Given the description of an element on the screen output the (x, y) to click on. 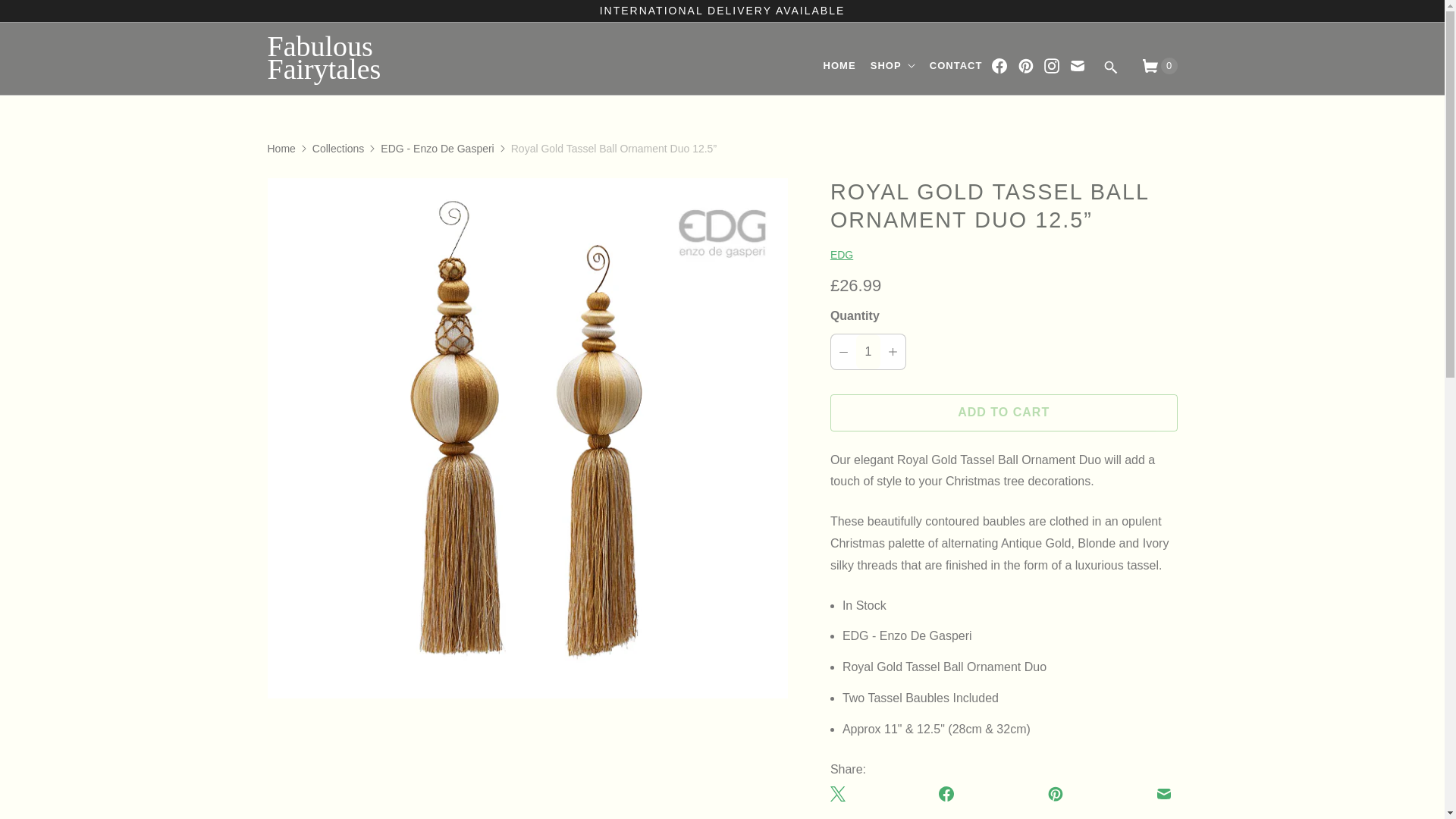
Share this on Facebook (946, 792)
Fabulous Fairytales (372, 58)
0 (1152, 66)
Email this to a friend (1163, 792)
CONTACT (955, 65)
1 (868, 351)
Share on X (839, 792)
EDG (841, 254)
HOME (839, 65)
Share this on Pinterest (1055, 792)
